Given the description of an element on the screen output the (x, y) to click on. 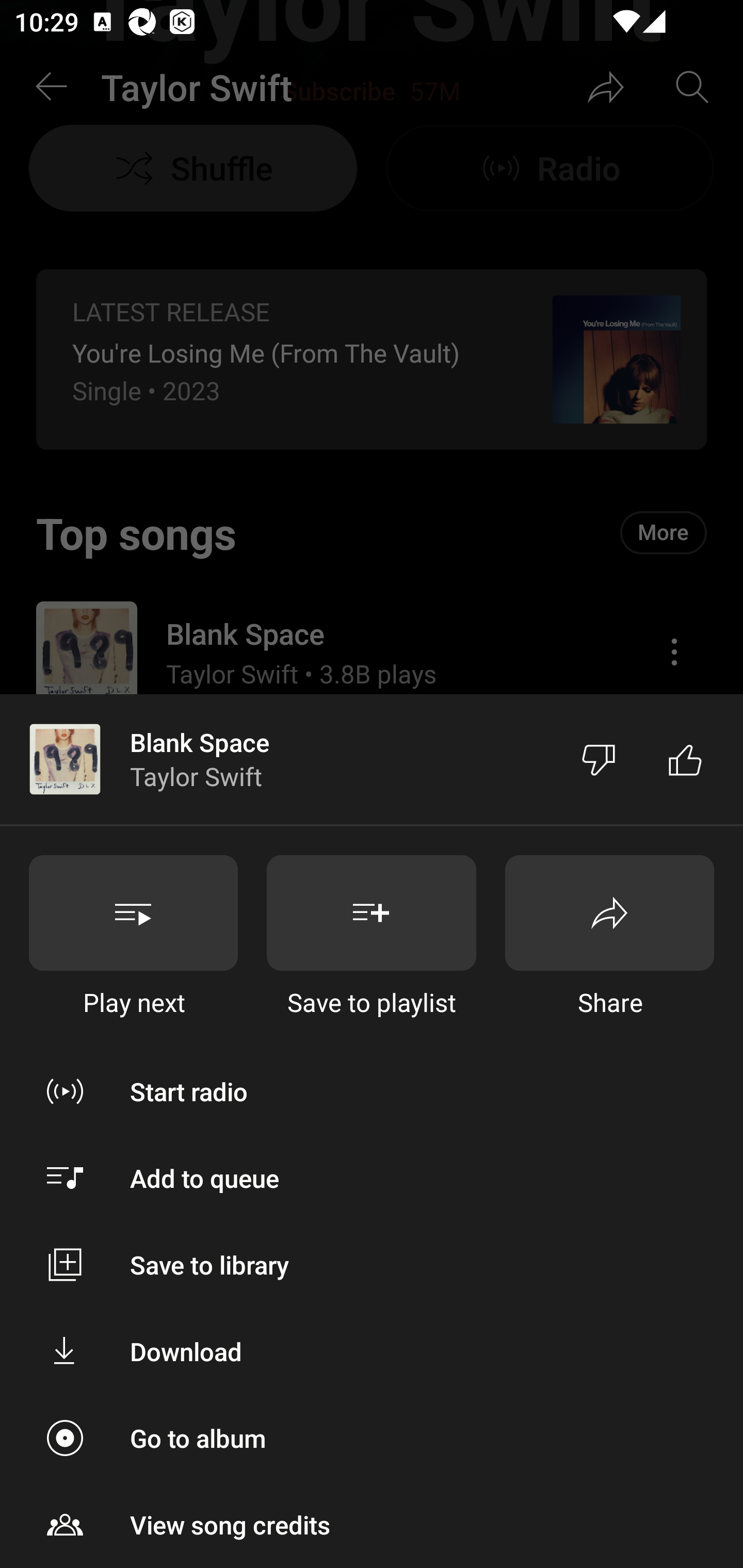
Dislike (598, 759)
Like (684, 759)
Start radio (371, 1091)
Add to queue (371, 1178)
Save to library (371, 1264)
Download (371, 1350)
Go to album (371, 1437)
View song credits (371, 1524)
